Given the description of an element on the screen output the (x, y) to click on. 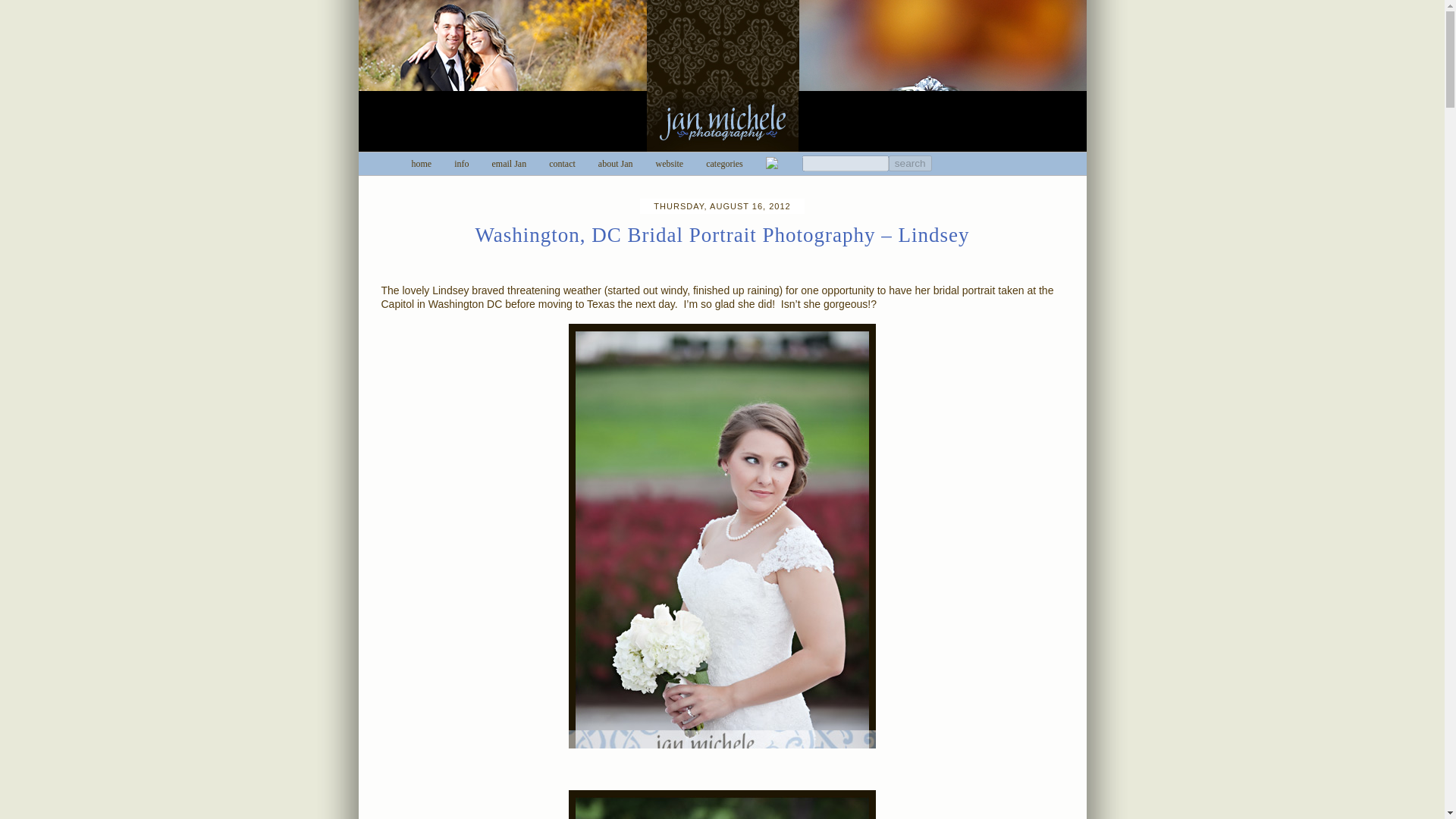
info (461, 163)
email Jan (509, 163)
Washington DC Bride22 (722, 804)
categories (724, 163)
jan michele photography (721, 77)
search (909, 163)
contact (561, 163)
about Jan (615, 163)
home (420, 163)
website (668, 163)
